Given the description of an element on the screen output the (x, y) to click on. 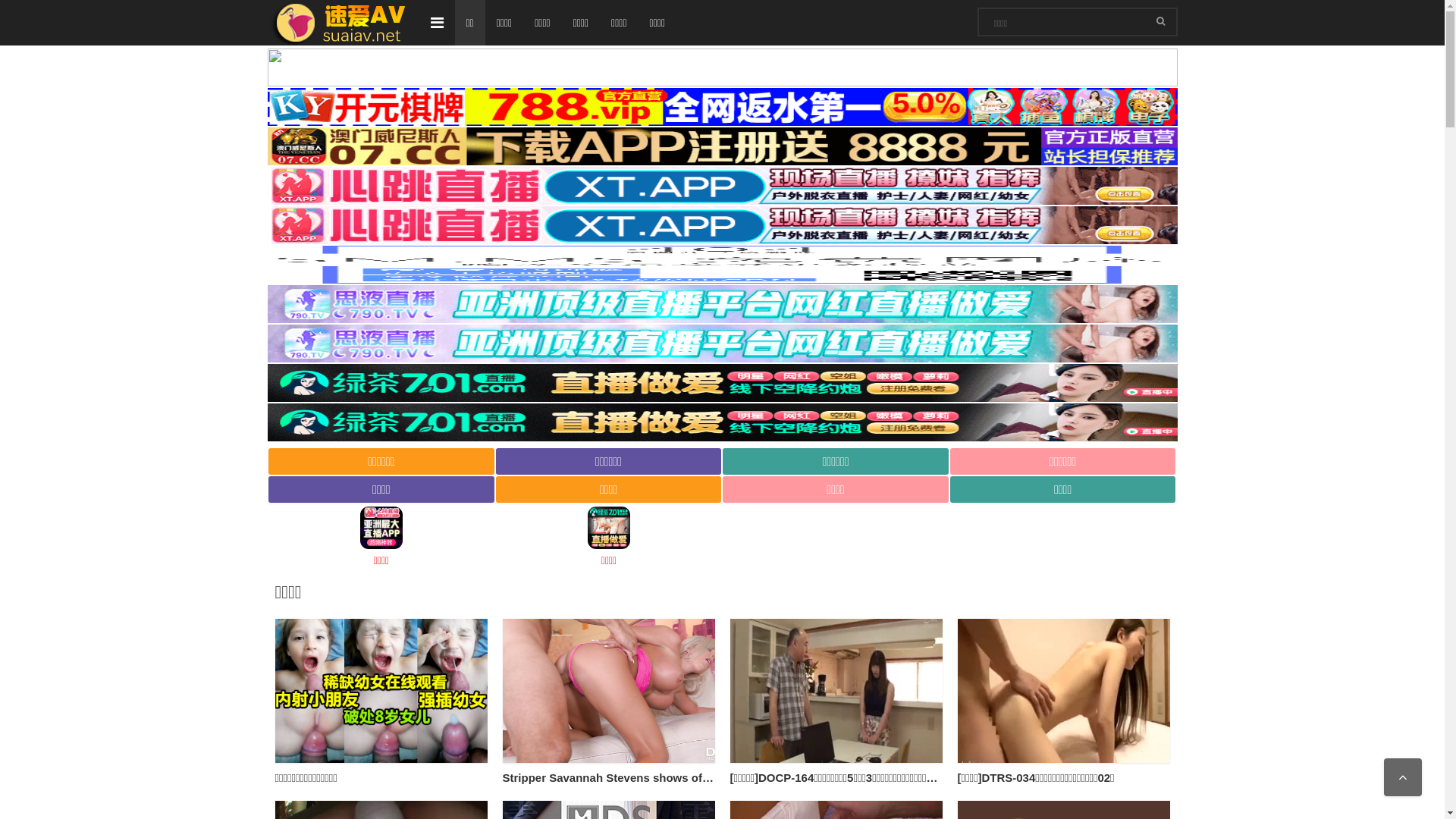
Stripper Savannah Stevens shows off her body and wants sex Element type: hover (608, 690)
Stripper Savannah Stevens shows off her body and wants sex Element type: text (669, 777)
